Given the description of an element on the screen output the (x, y) to click on. 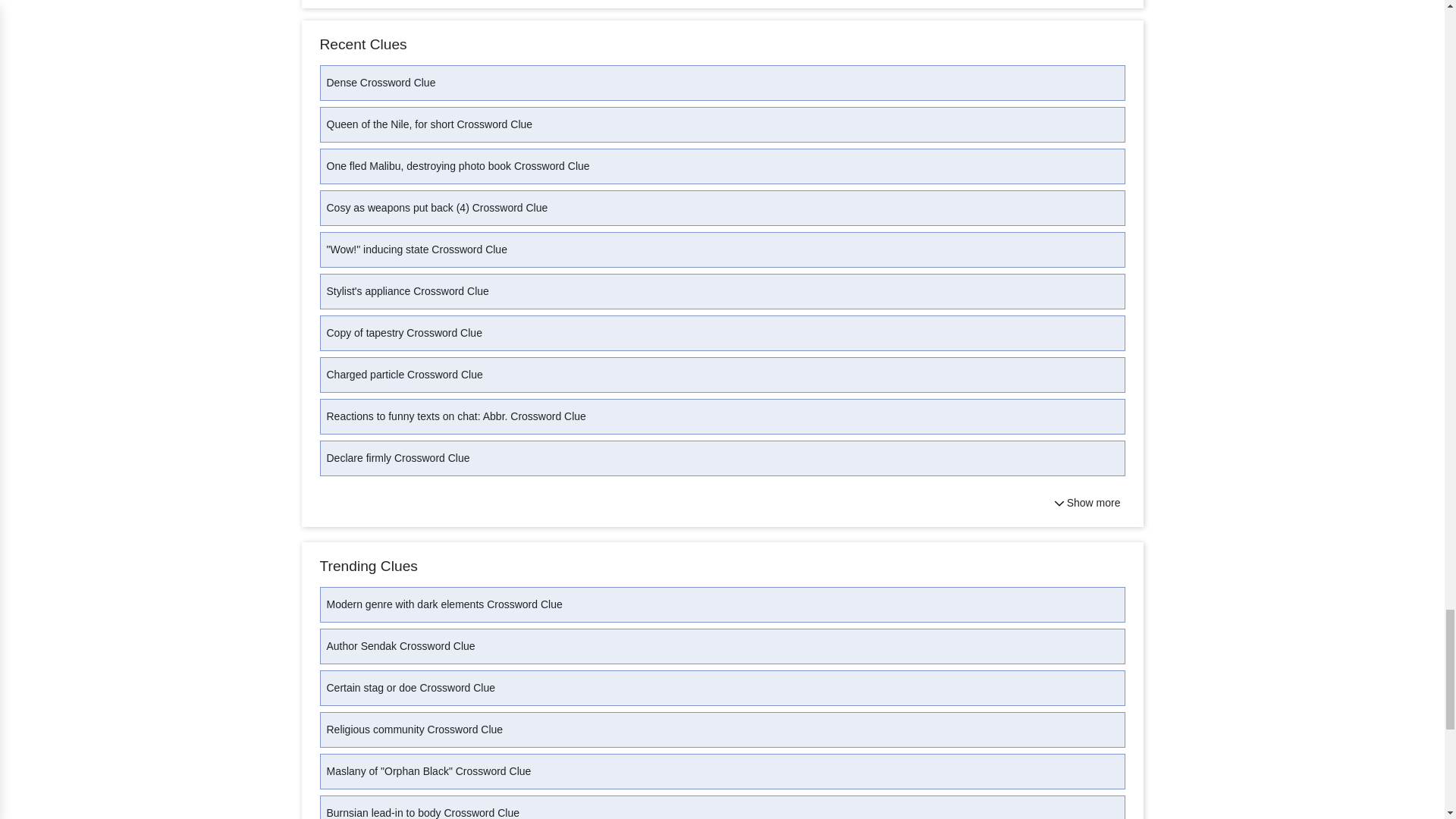
Reactions to funny texts on chat: Abbr. Crossword Clue (722, 416)
Queen of the Nile, for short Crossword Clue (722, 124)
Stylist's appliance Crossword Clue (722, 291)
One fled Malibu, destroying photo book Crossword Clue (722, 166)
Declare firmly Crossword Clue (722, 457)
Dense Crossword Clue (722, 82)
"Wow!" inducing state Crossword Clue (722, 249)
Charged particle Crossword Clue (722, 375)
Copy of tapestry Crossword Clue (722, 333)
